Given the description of an element on the screen output the (x, y) to click on. 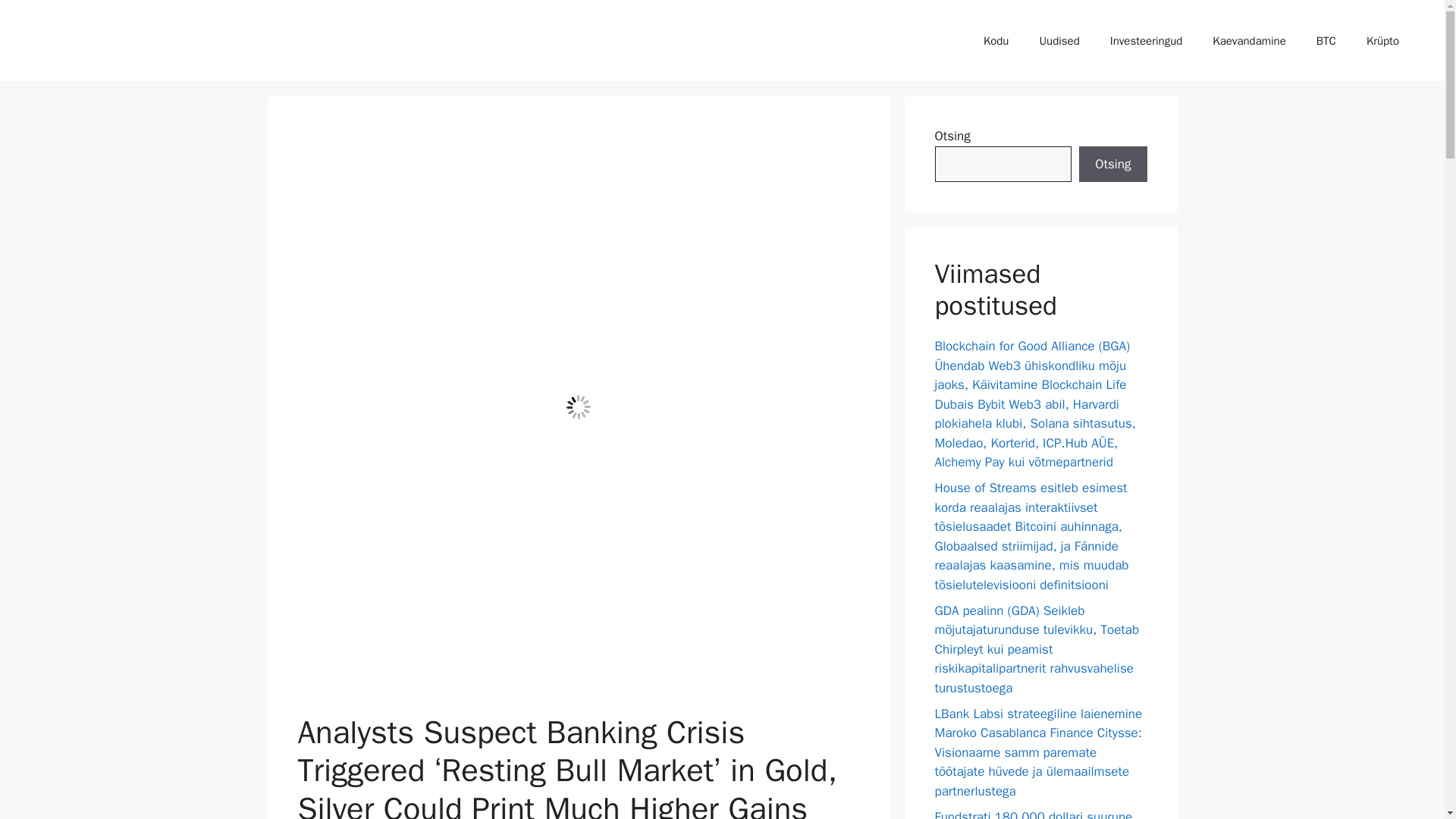
BTC (1326, 40)
Uudised (1058, 40)
Kaevandamine (1248, 40)
Kodu (996, 40)
Investeeringud (1146, 40)
